Given the description of an element on the screen output the (x, y) to click on. 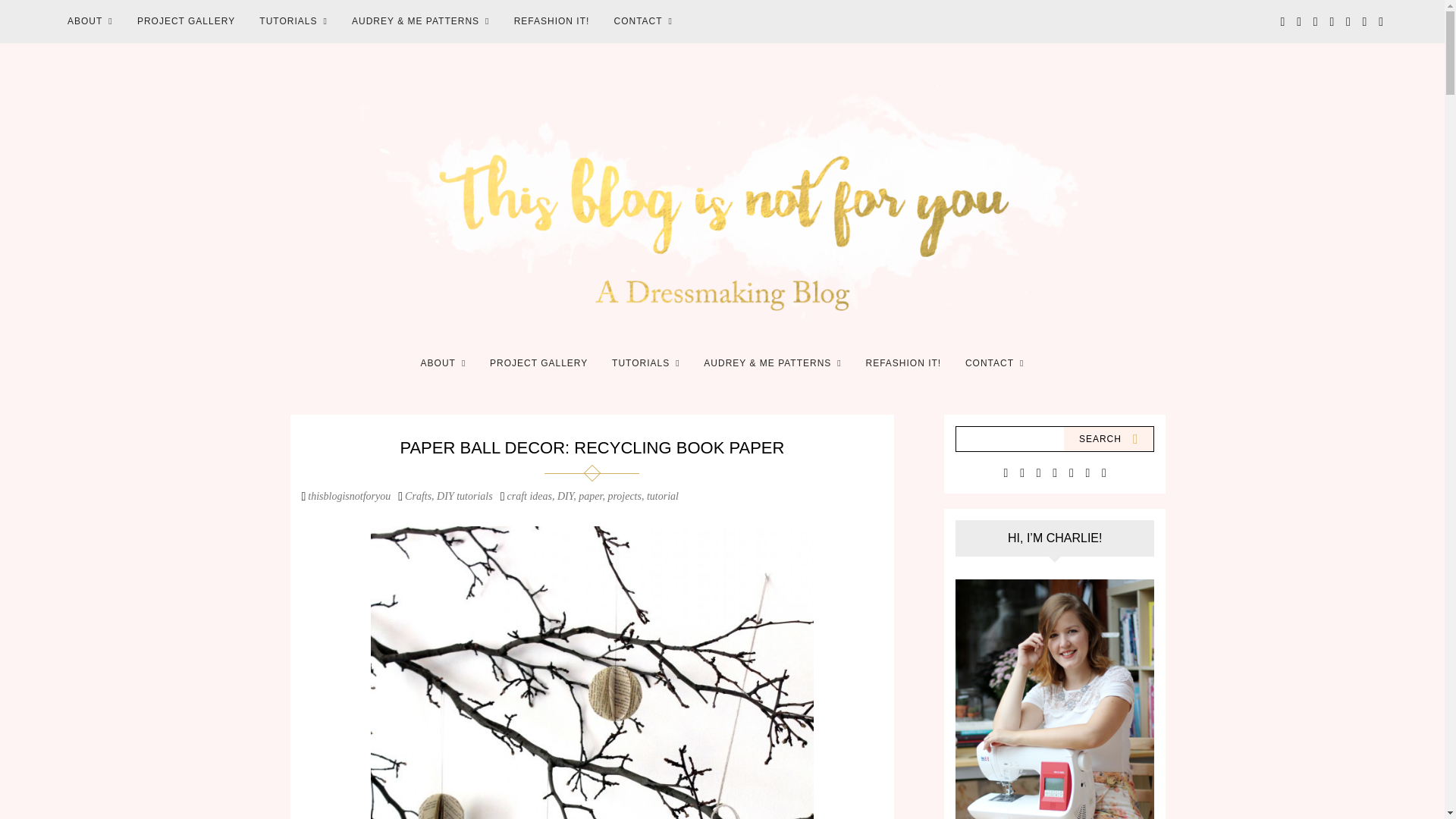
ABOUT (443, 363)
REFASHION IT! (551, 21)
CONTACT (995, 363)
View all posts by thisblogisnotforyou (348, 495)
ABOUT (89, 21)
REFASHION IT! (904, 363)
Tutorials (645, 363)
PROJECT GALLERY (538, 363)
PROJECT GALLERY (186, 21)
TUTORIALS (645, 363)
Tutorials (292, 21)
TUTORIALS (292, 21)
CONTACT (642, 21)
